Given the description of an element on the screen output the (x, y) to click on. 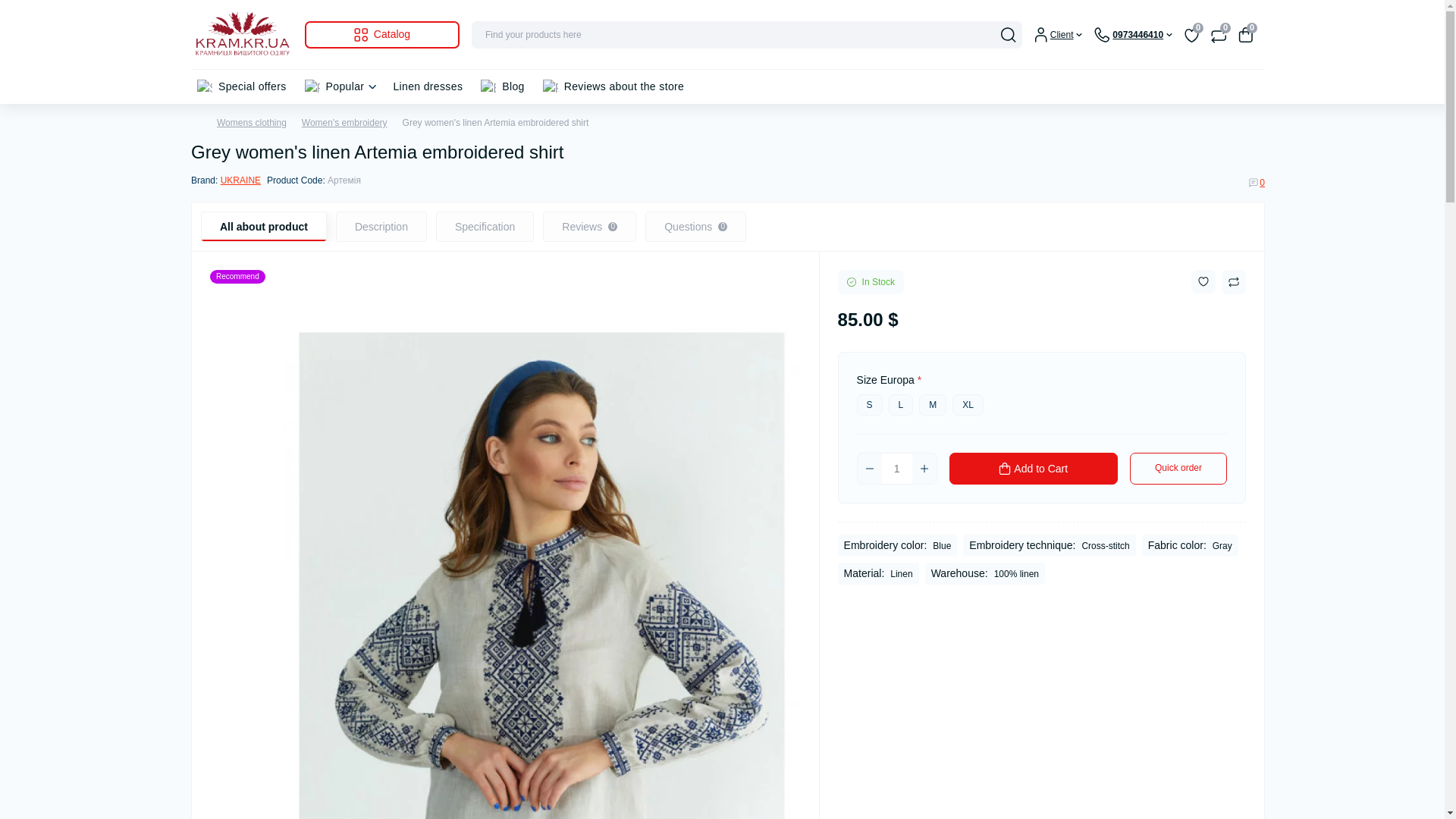
Catalog (382, 34)
Logo (241, 34)
1 (897, 468)
